Given the description of an element on the screen output the (x, y) to click on. 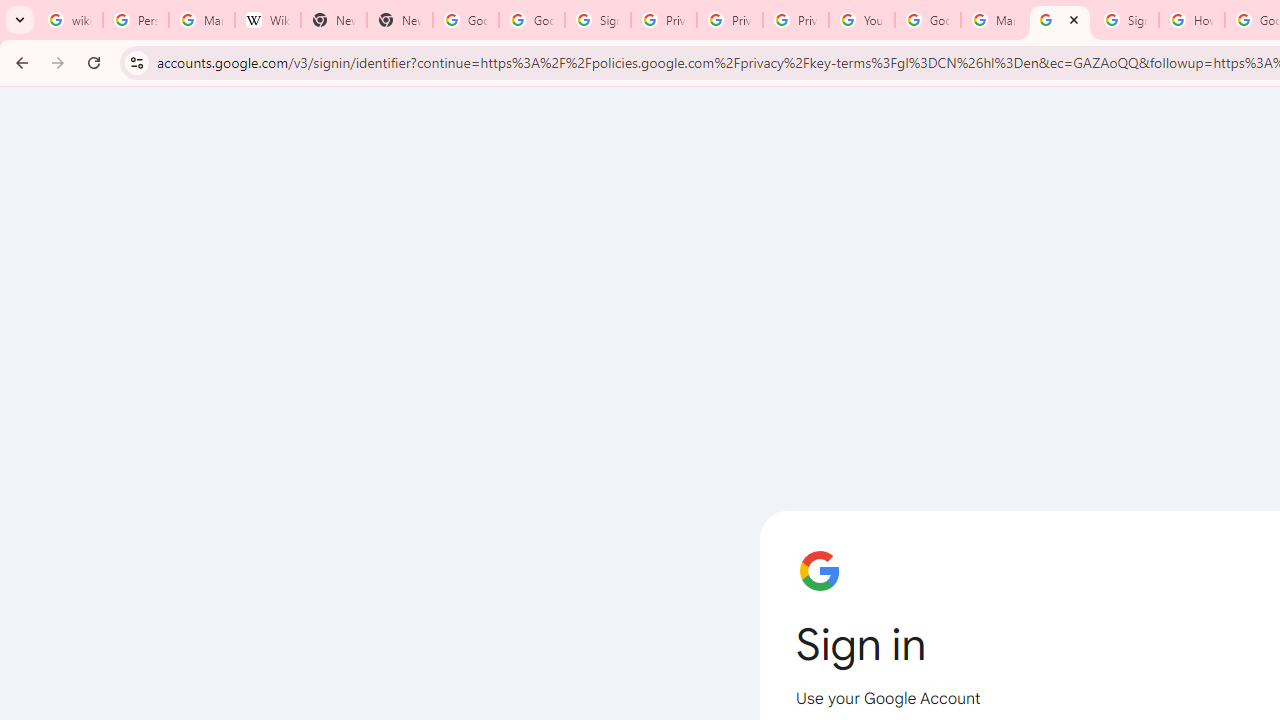
Sign in - Google Accounts (597, 20)
Sign in - Google Accounts (1059, 20)
New Tab (333, 20)
Google Account Help (927, 20)
Sign in - Google Accounts (1125, 20)
